Given the description of an element on the screen output the (x, y) to click on. 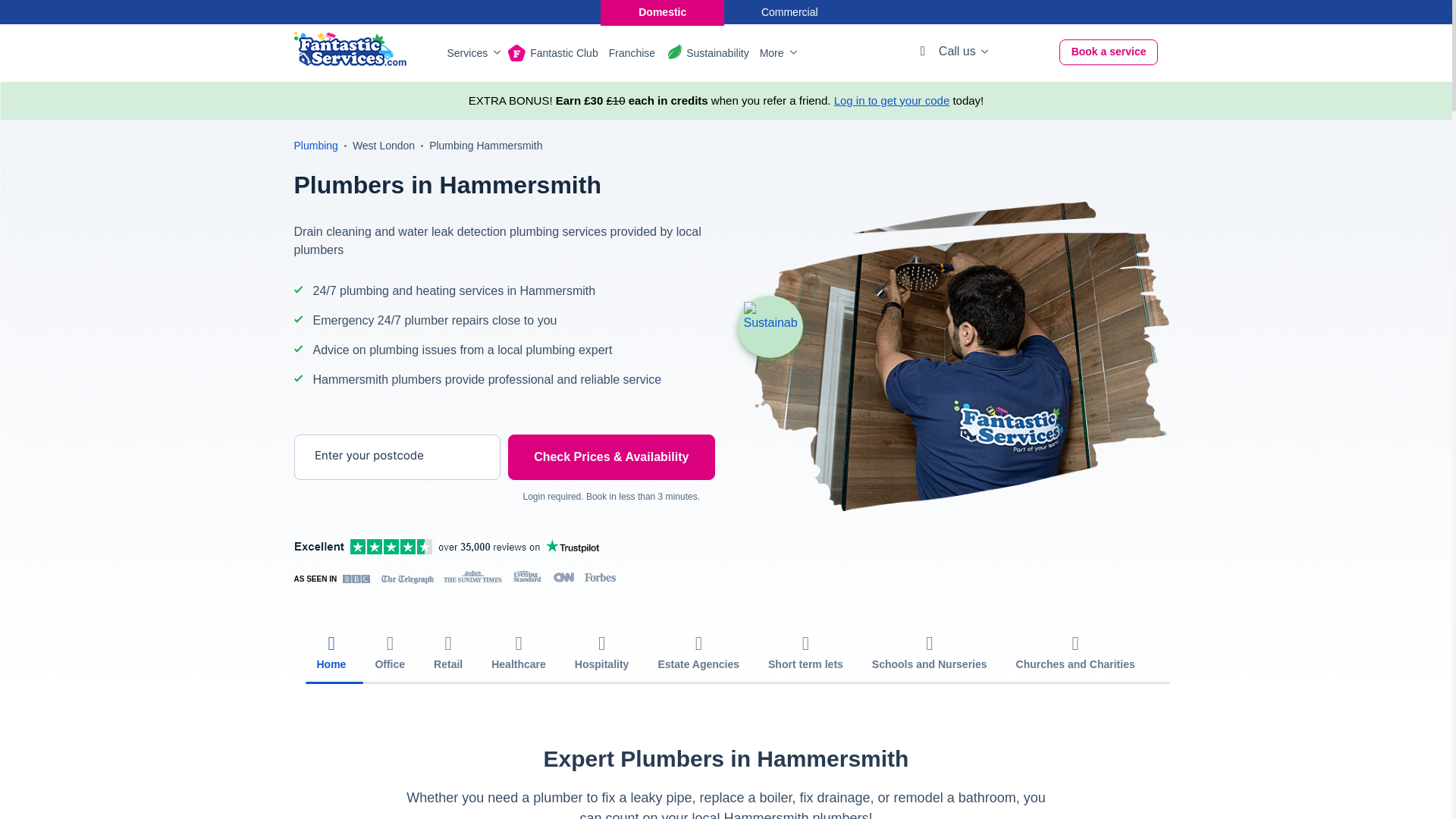
Book online (1108, 52)
Fantastic Services Logo (350, 48)
Fantastic Club (563, 52)
Domestic (661, 12)
Estate Agencies (698, 652)
Fantastic Services (350, 47)
Franchise (632, 52)
For business clients (789, 12)
Book a service (1108, 52)
Sustainability (717, 52)
Services (472, 52)
Hospitality (601, 652)
Commercial (789, 12)
For domestic clients (661, 12)
Healthcare (518, 652)
